Given the description of an element on the screen output the (x, y) to click on. 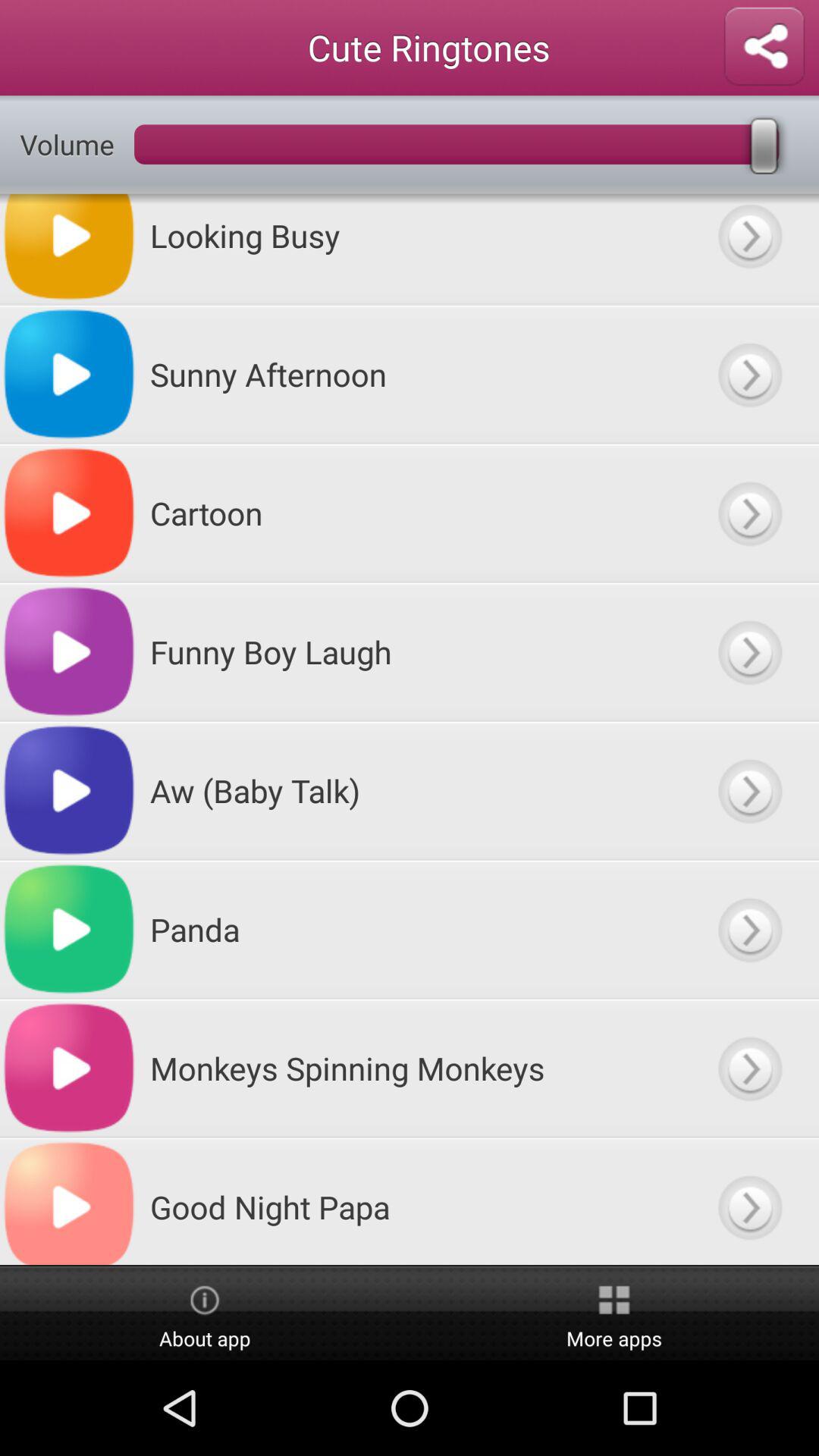
play (749, 790)
